Given the description of an element on the screen output the (x, y) to click on. 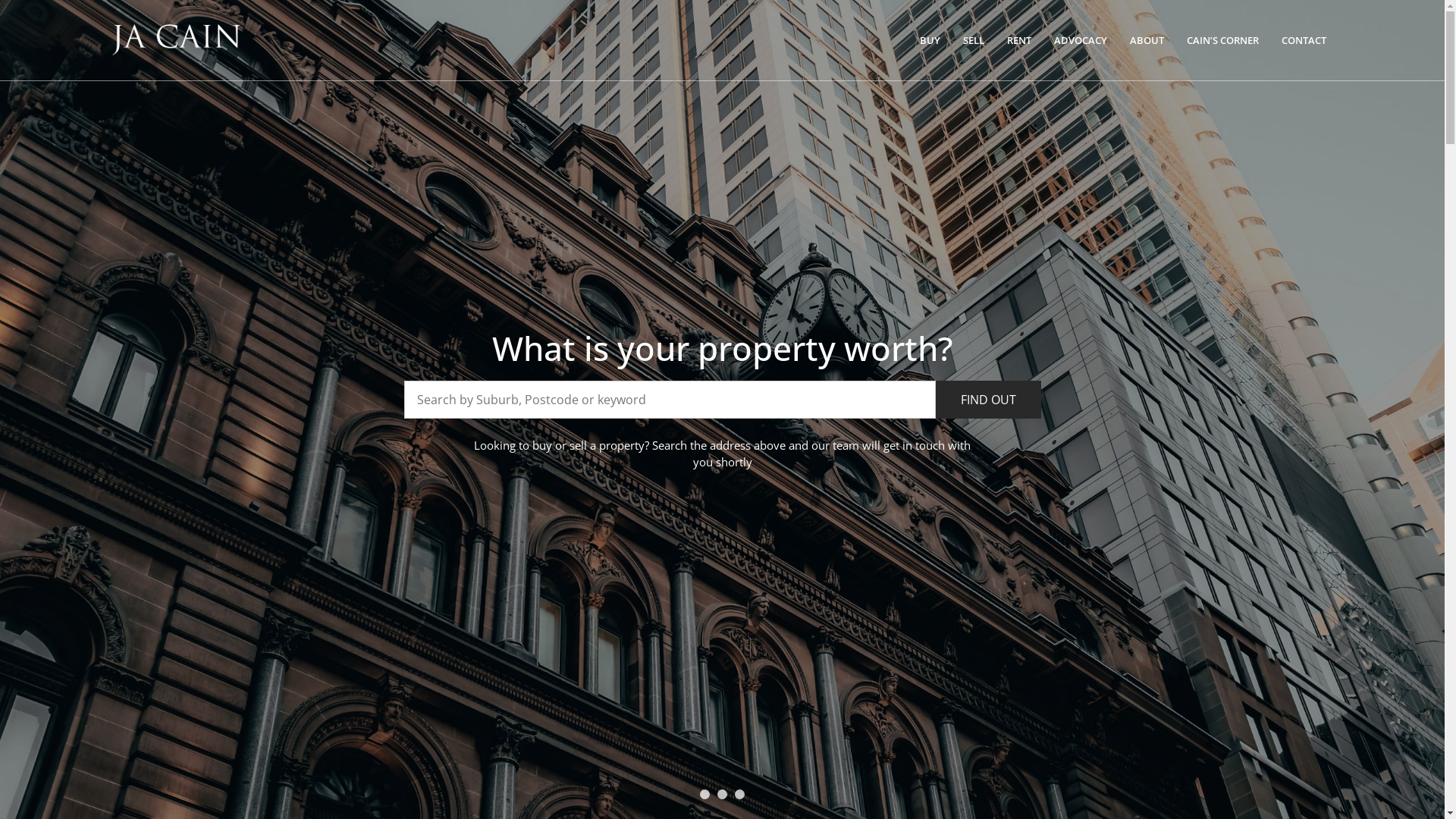
SELL Element type: text (973, 40)
FIND OUT Element type: text (988, 399)
ADVOCACY Element type: text (1080, 40)
RENT Element type: text (1019, 40)
BUY Element type: text (930, 40)
ABOUT Element type: text (1146, 40)
CONTACT Element type: text (1303, 40)
